Given the description of an element on the screen output the (x, y) to click on. 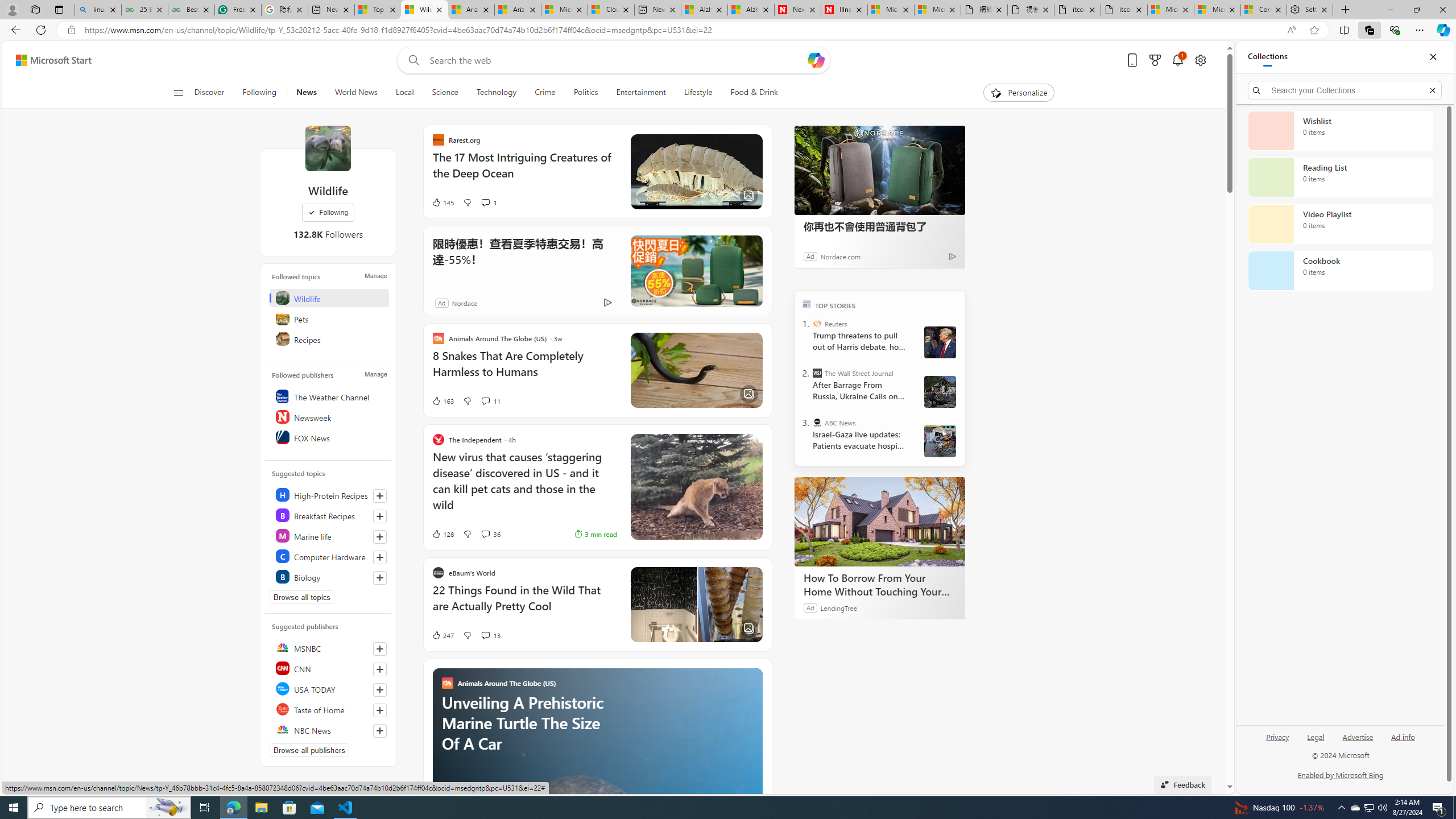
Pets (328, 318)
Illness news & latest pictures from Newsweek.com (844, 9)
128 Like (442, 533)
Nordace.com (839, 256)
Browse all publishers (309, 749)
Class: highlight (328, 576)
